Given the description of an element on the screen output the (x, y) to click on. 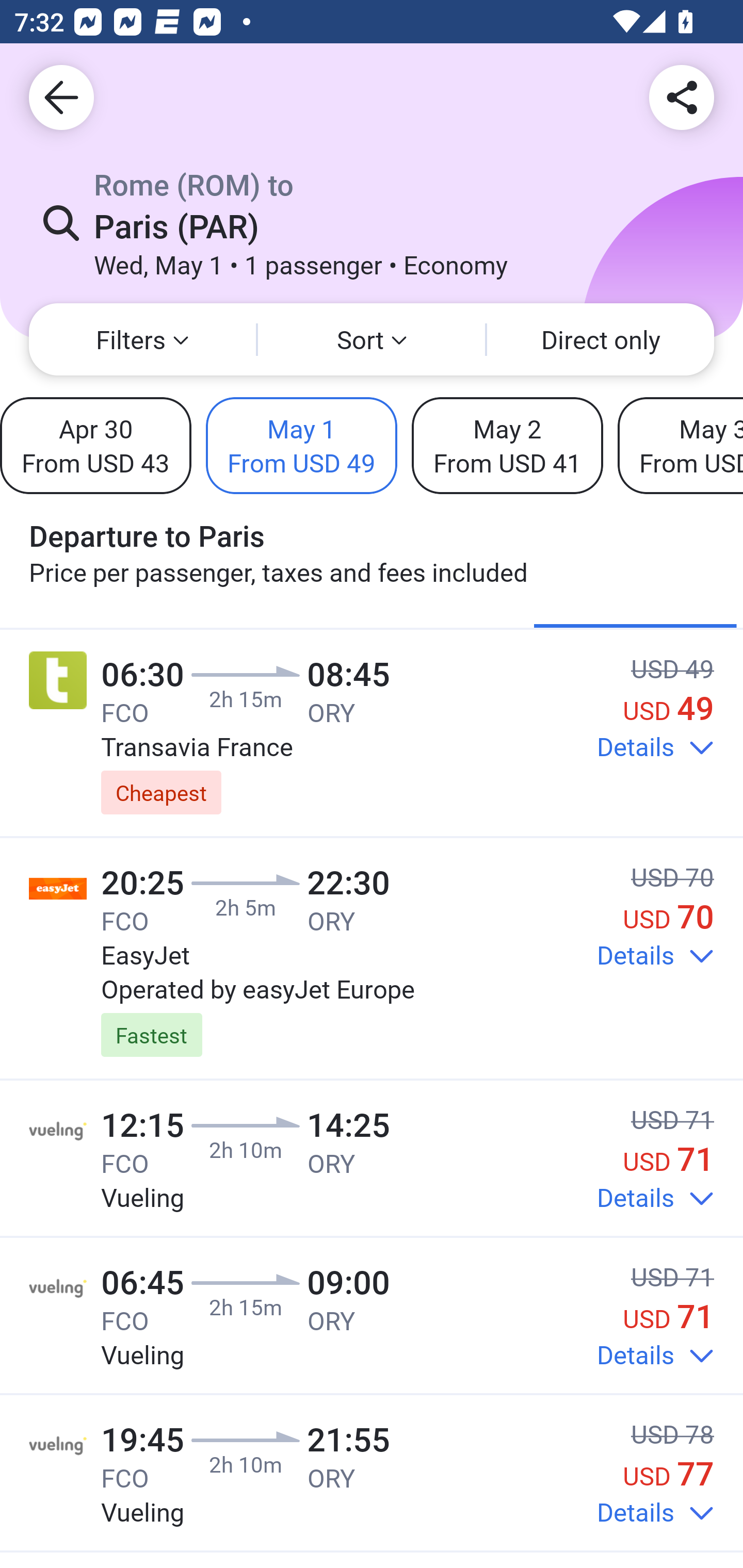
Filters (141, 339)
Sort (371, 339)
Direct only (600, 339)
Apr 30 From USD 43 (95, 444)
May 1 From USD 49 (301, 444)
May 2 From USD 41 (507, 444)
May 3 From USD 51 (680, 444)
